Given the description of an element on the screen output the (x, y) to click on. 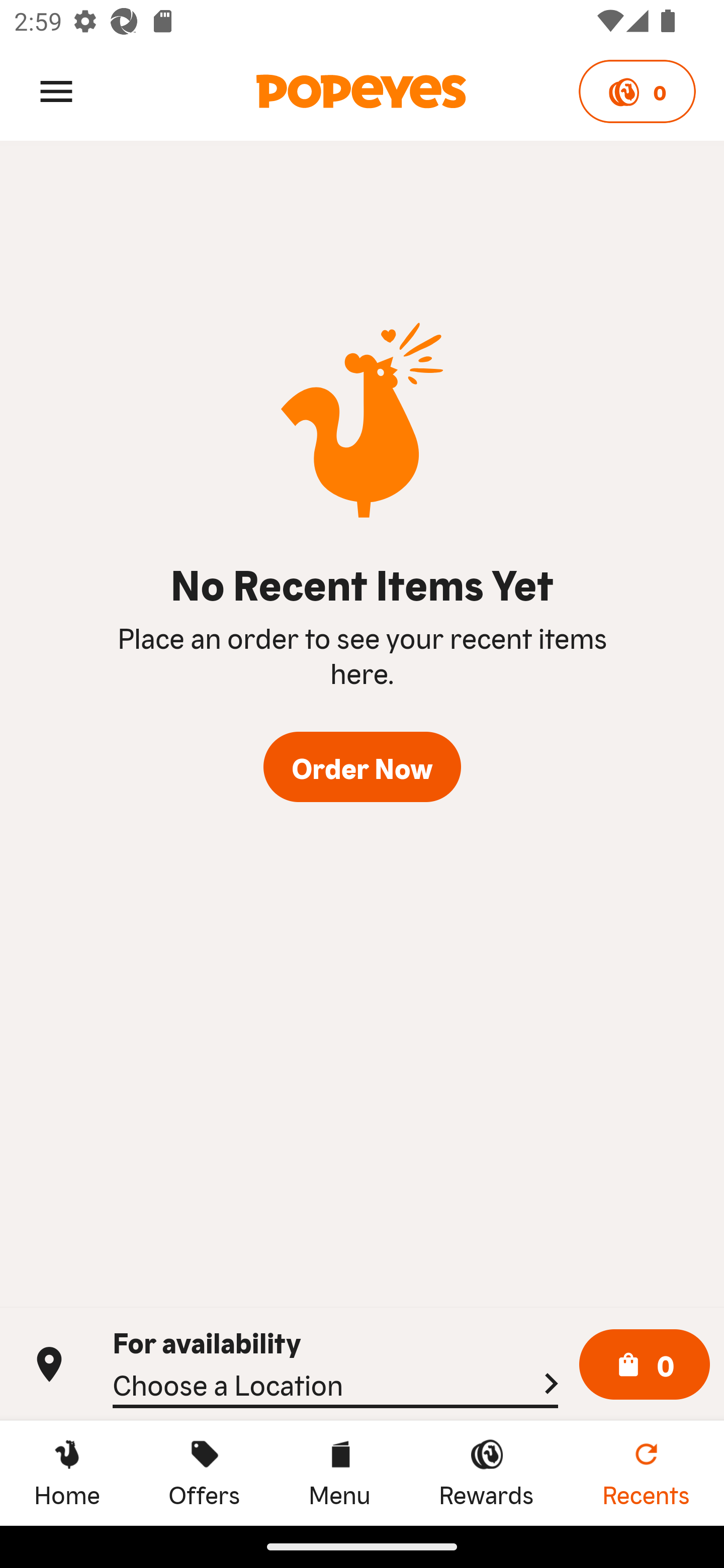
Menu  (56, 90)
0 Points 0 (636, 91)
Order Now (362, 767)
0 Cart total  0 (644, 1364)
Home Home Home (66, 1472)
Offers Offers Offers (203, 1472)
Menu Menu Menu (339, 1472)
Rewards Rewards Rewards (486, 1472)
